Given the description of an element on the screen output the (x, y) to click on. 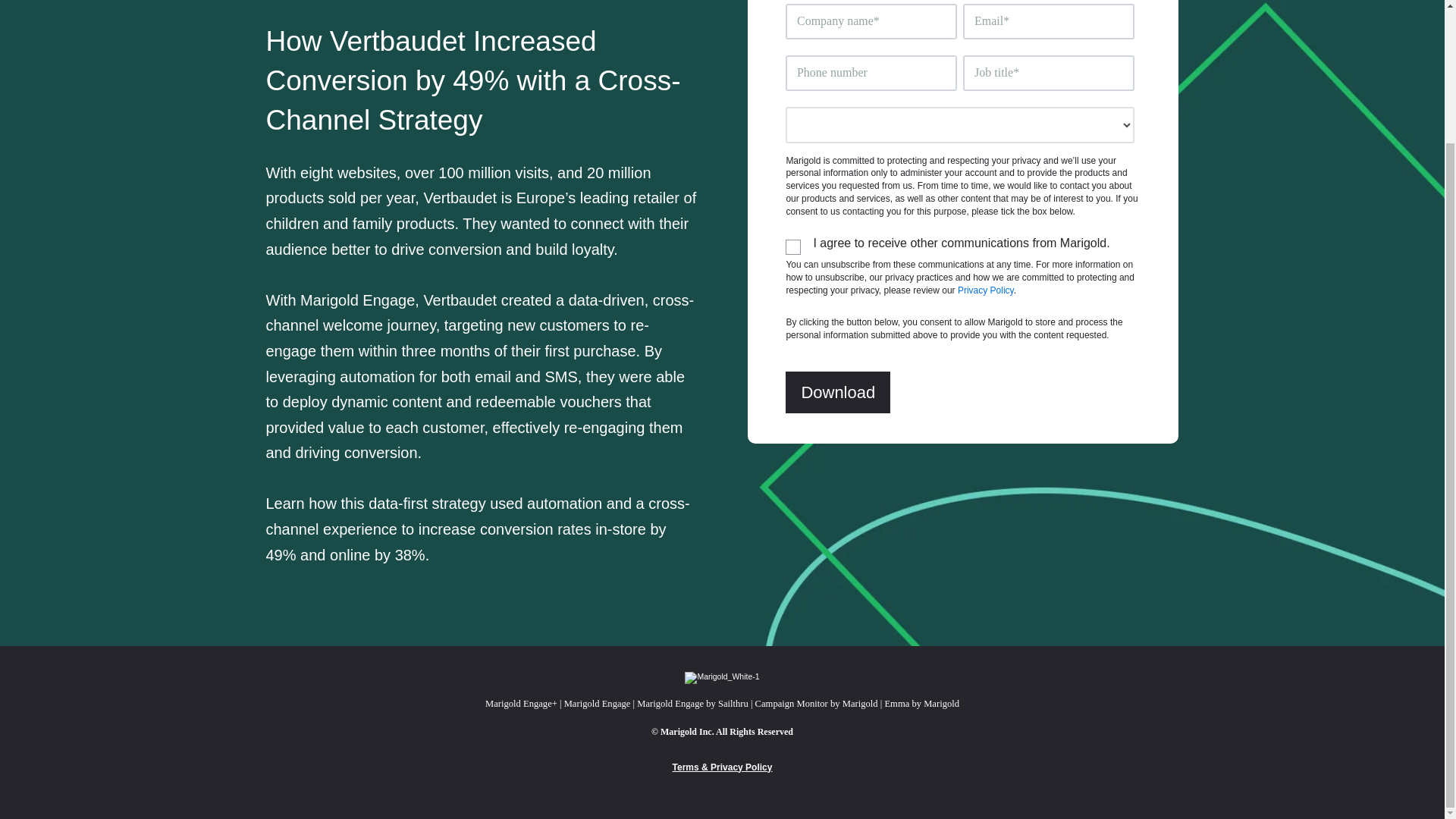
Download (837, 392)
Privacy Policy (985, 290)
Download (837, 392)
